Given the description of an element on the screen output the (x, y) to click on. 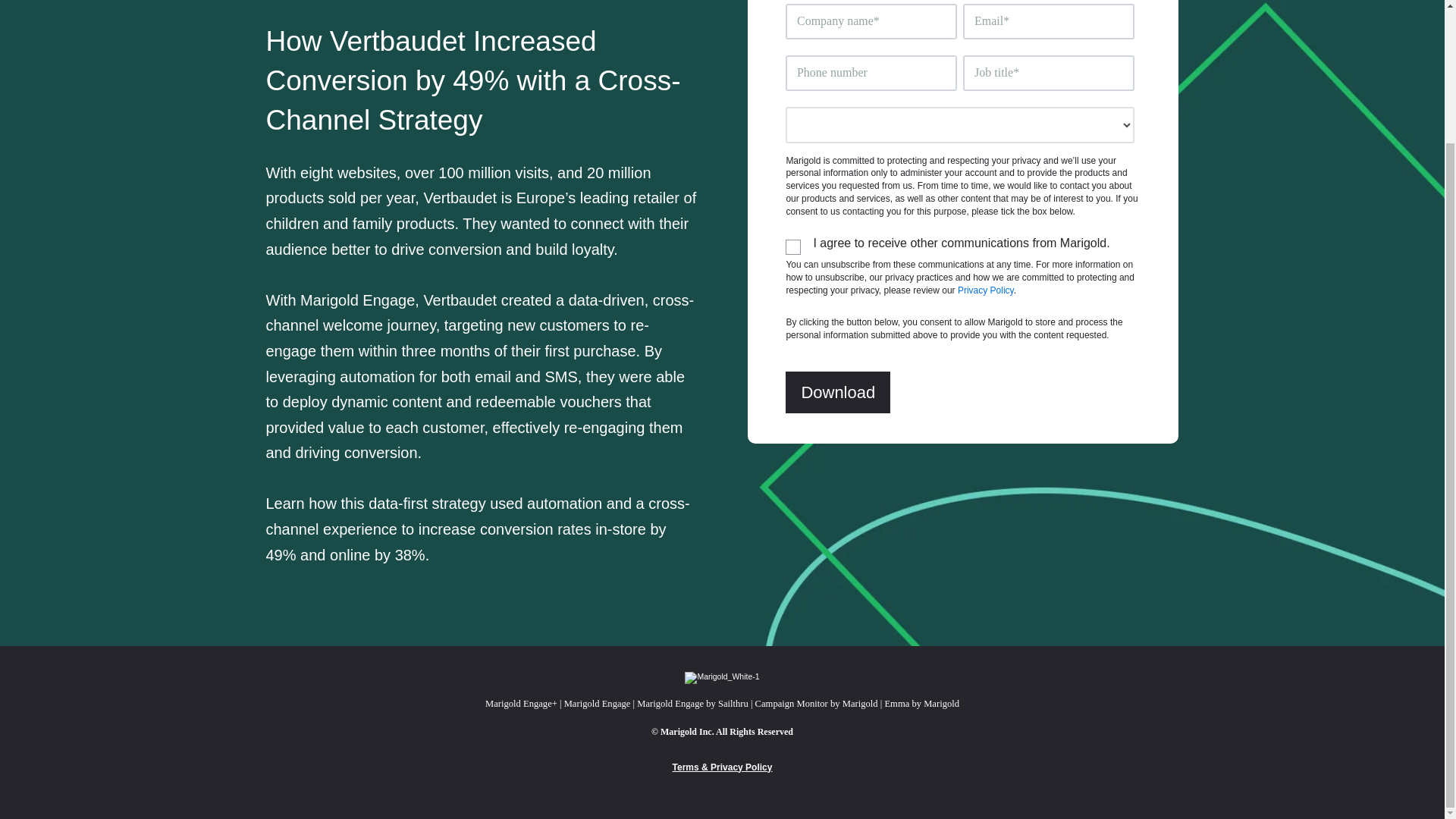
Download (837, 392)
Privacy Policy (985, 290)
Download (837, 392)
